Given the description of an element on the screen output the (x, y) to click on. 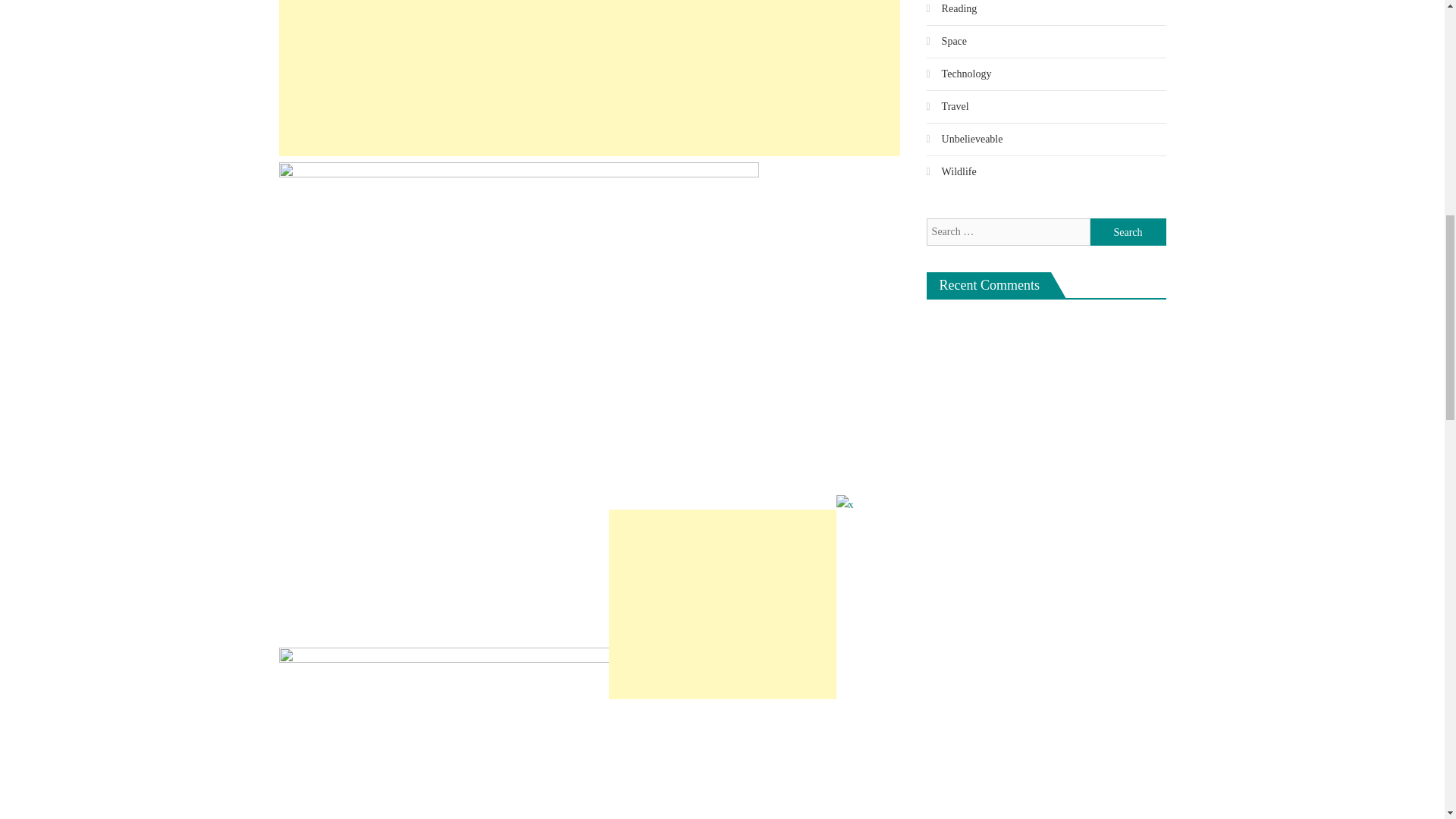
Reading (951, 10)
Unbelieveable (964, 139)
Search (1128, 231)
Travel (947, 106)
Space (946, 41)
Technology (958, 74)
Search (1128, 231)
Advertisement (589, 78)
Search (1128, 231)
Wildlife (951, 171)
